Given the description of an element on the screen output the (x, y) to click on. 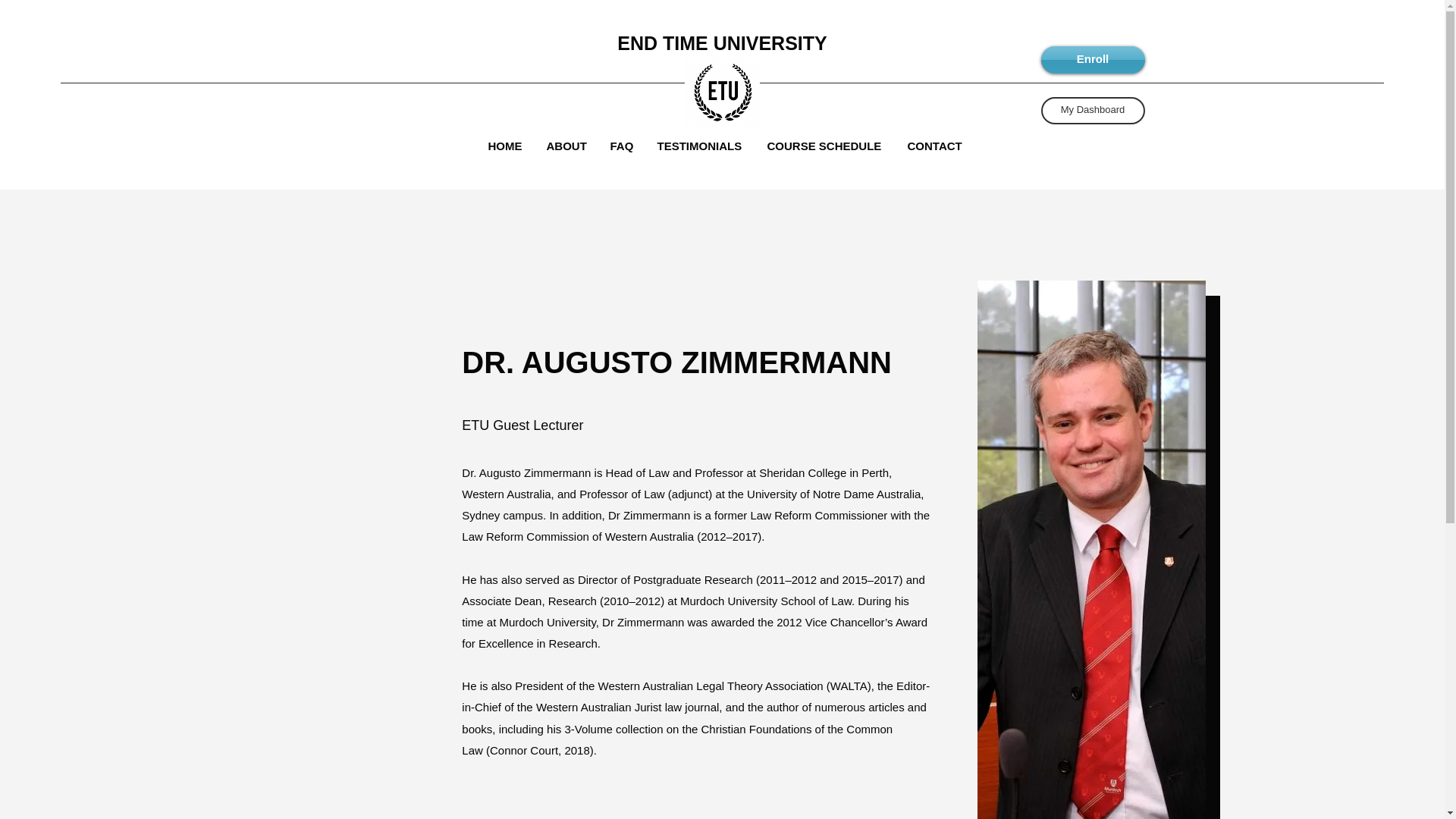
My Dashboard (1092, 110)
Enroll (1092, 58)
END TIME UNIVERSITY (722, 43)
HOME (509, 144)
ABOUT (570, 144)
COURSE SCHEDULE (829, 144)
CONTACT (937, 144)
TESTIMONIALS (703, 144)
FAQ (625, 144)
